Given the description of an element on the screen output the (x, y) to click on. 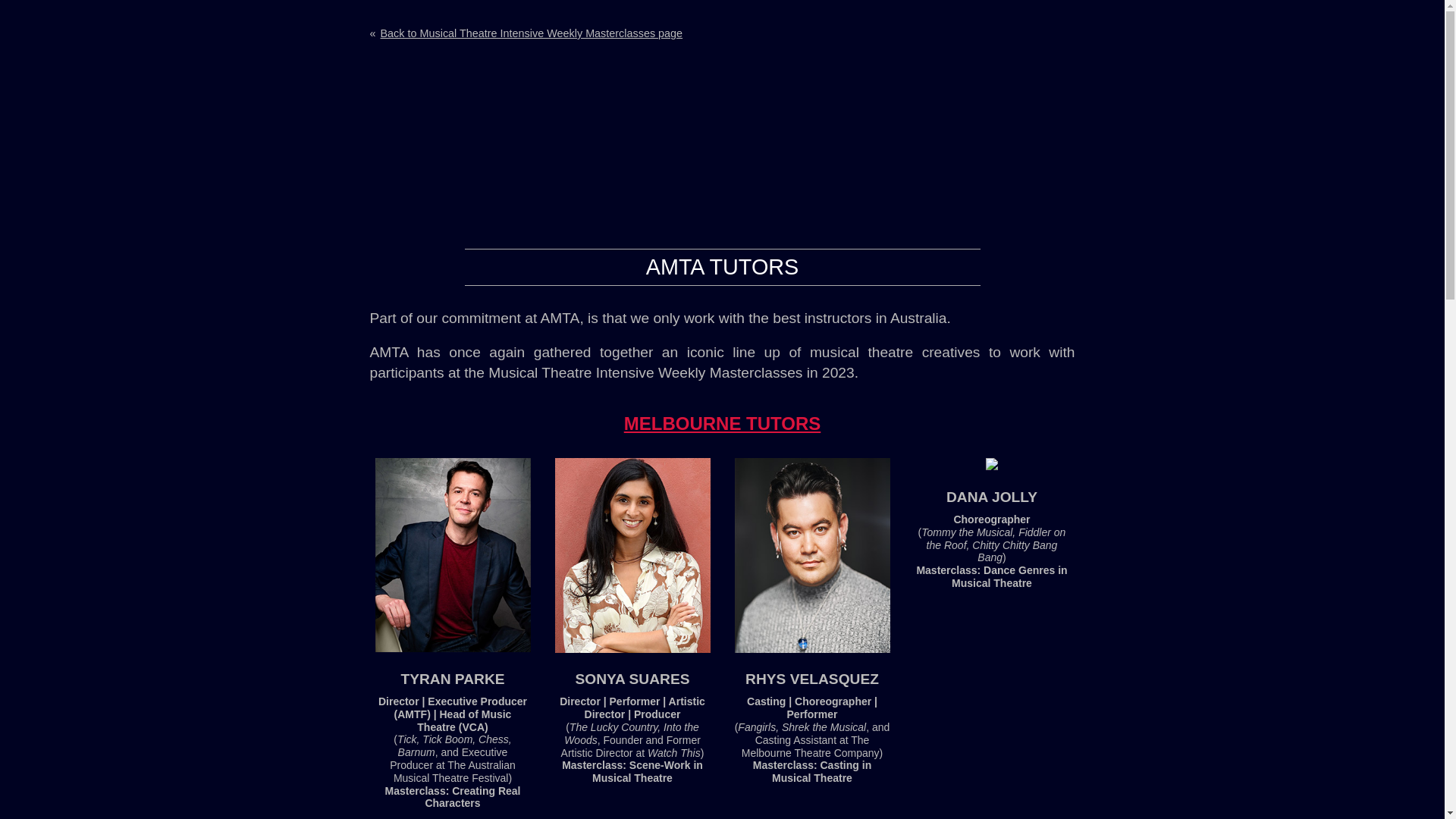
Back to Musical Theatre Intensive Weekly Masterclasses page Element type: text (534, 32)
